Given the description of an element on the screen output the (x, y) to click on. 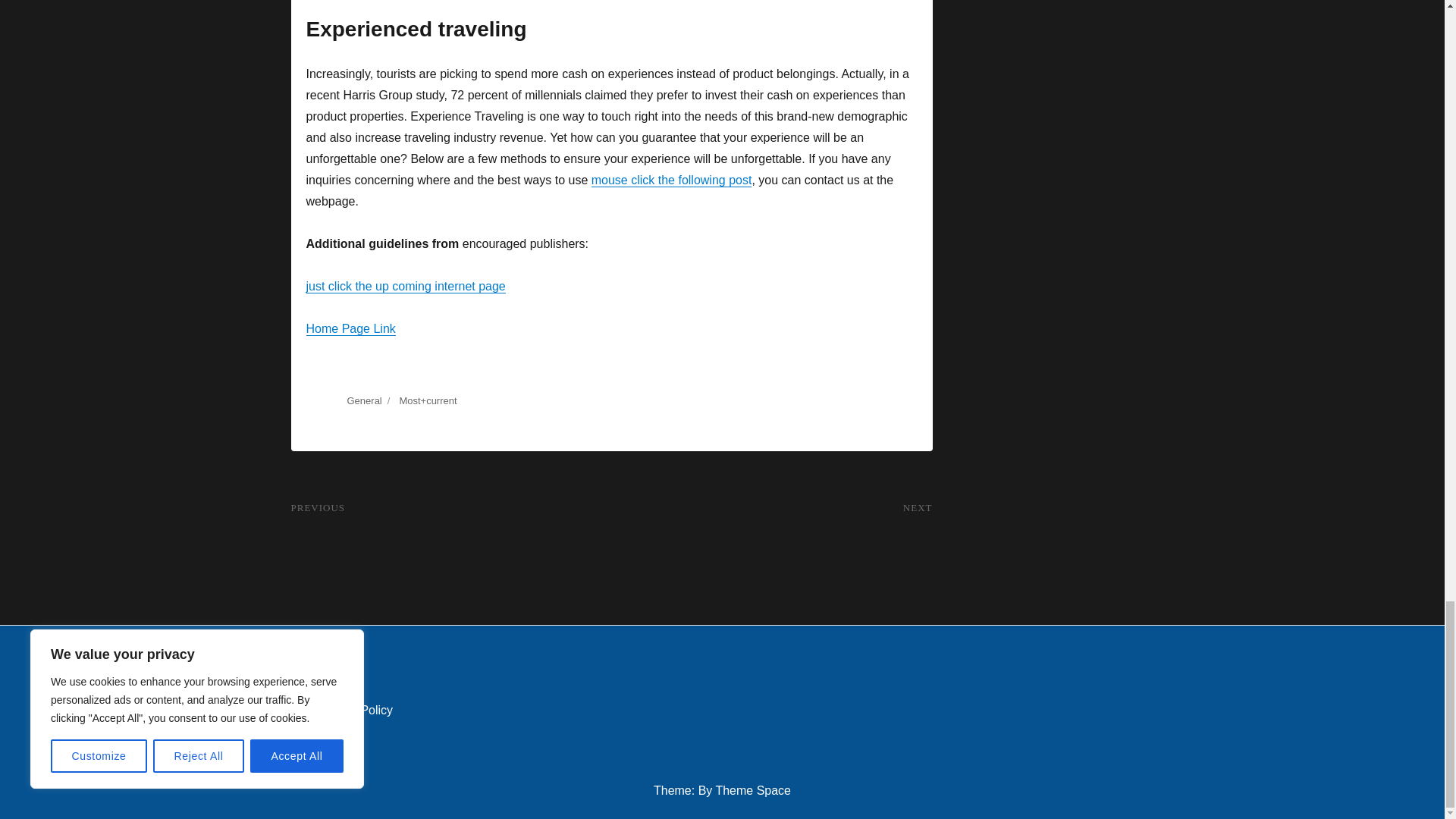
mouse click the following post (671, 179)
Home Page Link (350, 328)
just click the up coming internet page (405, 286)
General (364, 400)
